Given the description of an element on the screen output the (x, y) to click on. 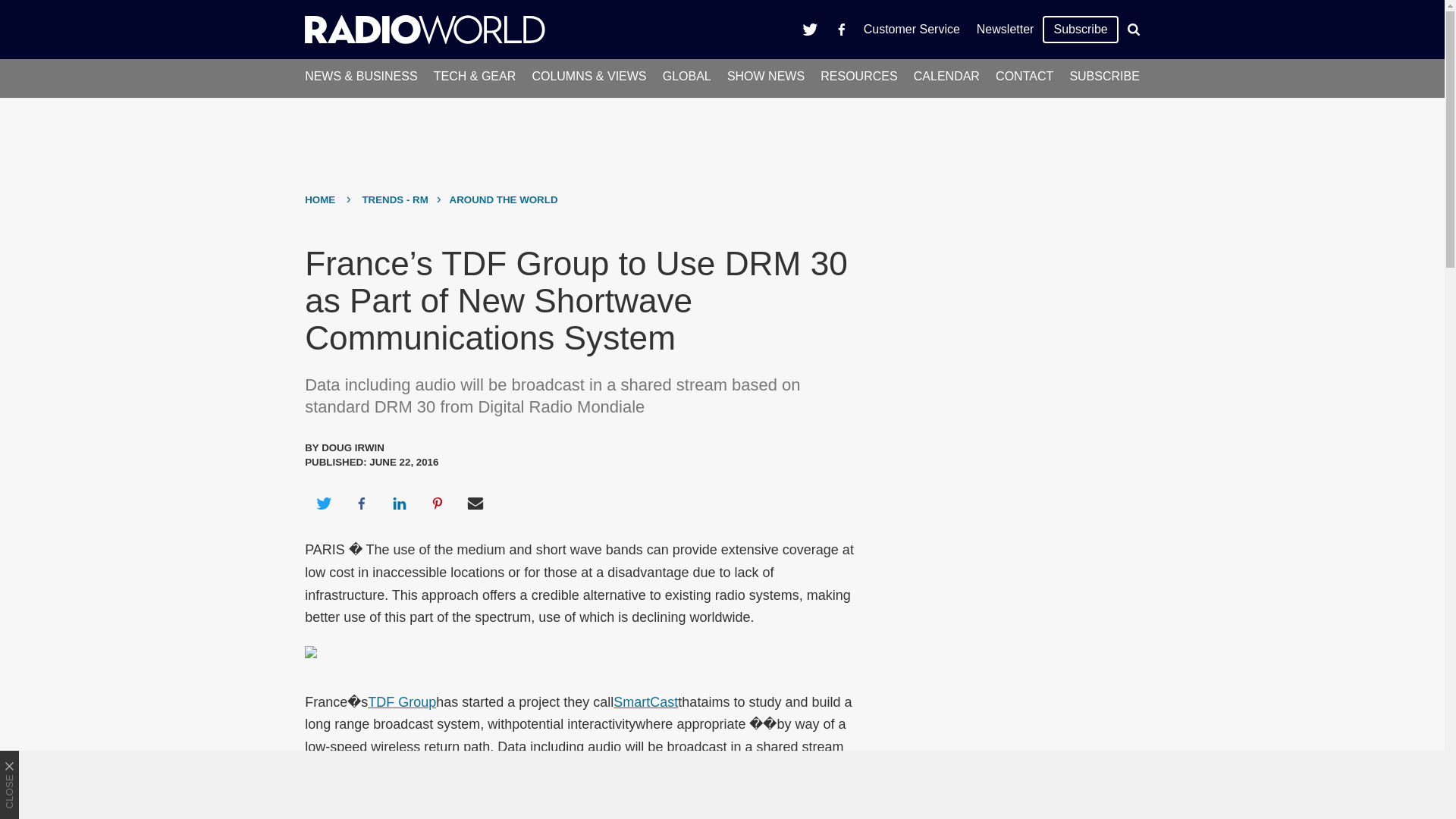
Share on LinkedIn (399, 503)
Customer Service (912, 29)
Share on Twitter (323, 503)
Share on Facebook (361, 503)
Share via Email (476, 503)
Share on Pinterest (438, 503)
